Given the description of an element on the screen output the (x, y) to click on. 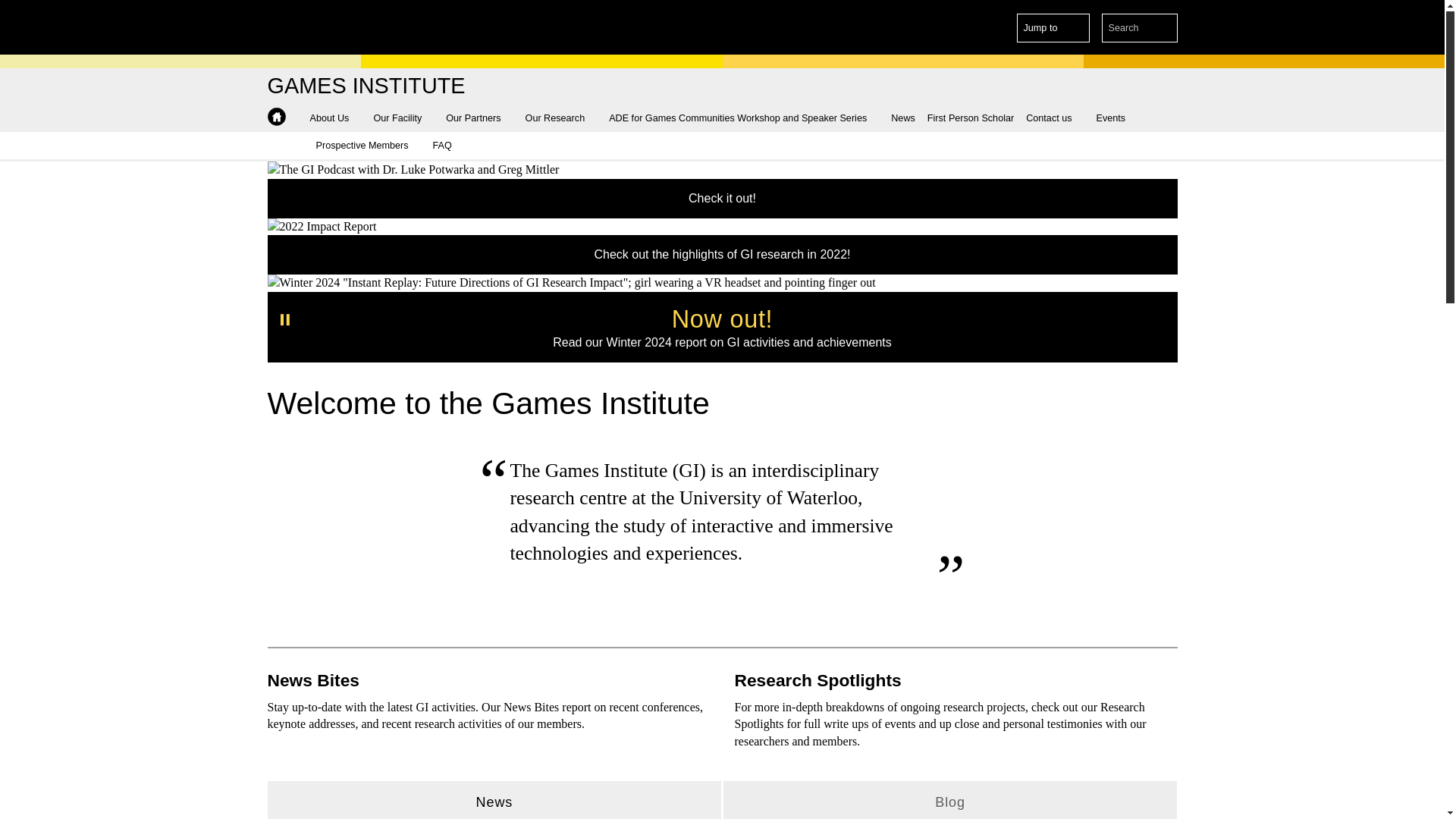
Our Research (561, 117)
GAMES INSTITUTE (365, 85)
Games Institute Home (275, 116)
Games Institute Home (275, 116)
Our Facility (402, 117)
Jump to (1053, 27)
pause (285, 319)
Search (1163, 27)
University of Waterloo Home (331, 27)
Search (1163, 27)
Our Partners (478, 117)
About Us (334, 117)
ADE for Games Communities Workshop and Speaker Series (743, 117)
Games Institute Home (365, 85)
